Given the description of an element on the screen output the (x, y) to click on. 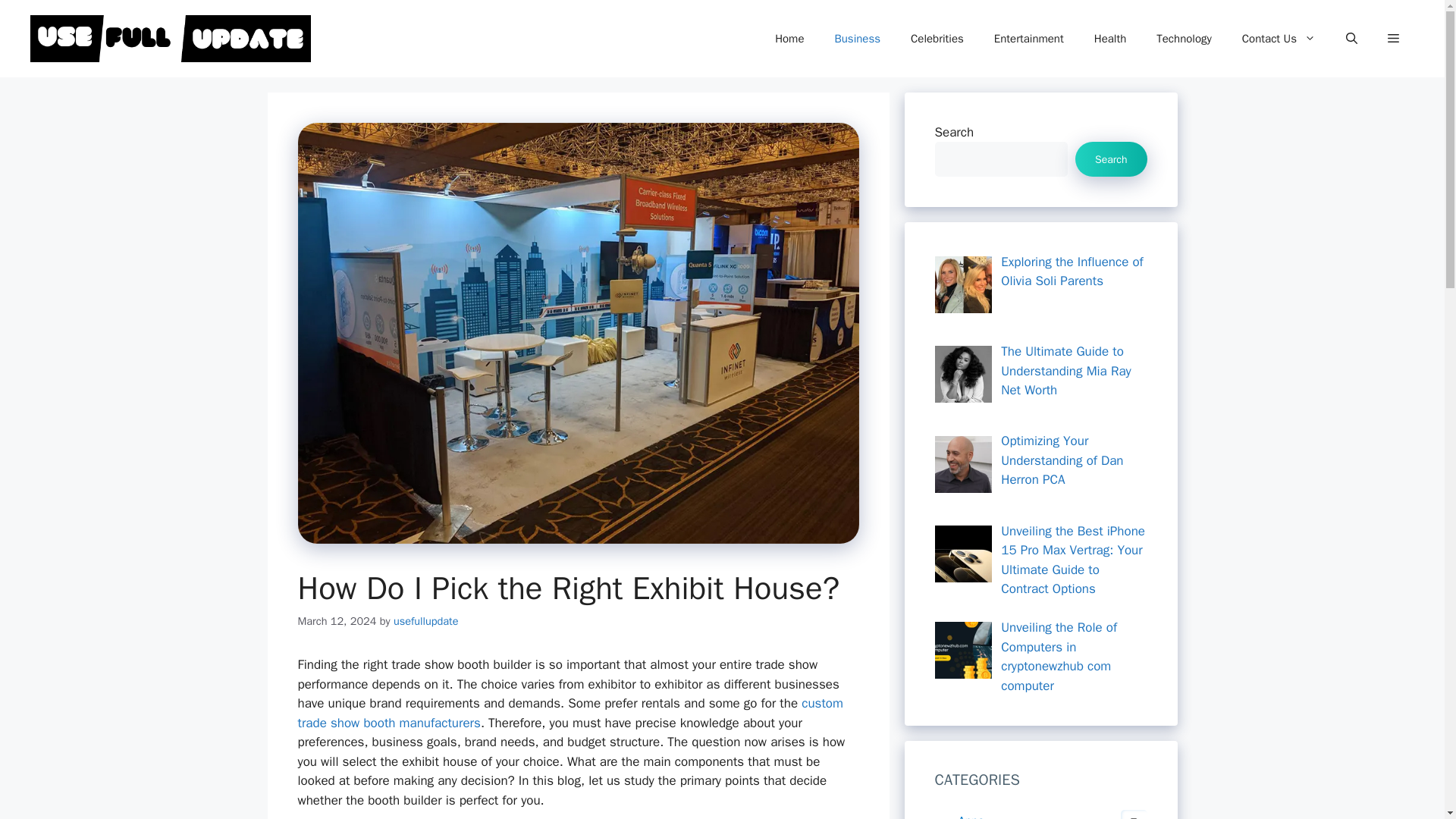
View all posts by usefullupdate (425, 621)
Contact Us (1278, 38)
Business (856, 38)
Home (789, 38)
Entertainment (1028, 38)
custom trade show booth manufacturers (570, 713)
Technology (1184, 38)
Celebrities (936, 38)
Health (1109, 38)
Exploring the Influence of Olivia Soli Parents (962, 284)
Optimizing Your Understanding of Dan Herron PCA (962, 464)
usefullupdate (425, 621)
